Given the description of an element on the screen output the (x, y) to click on. 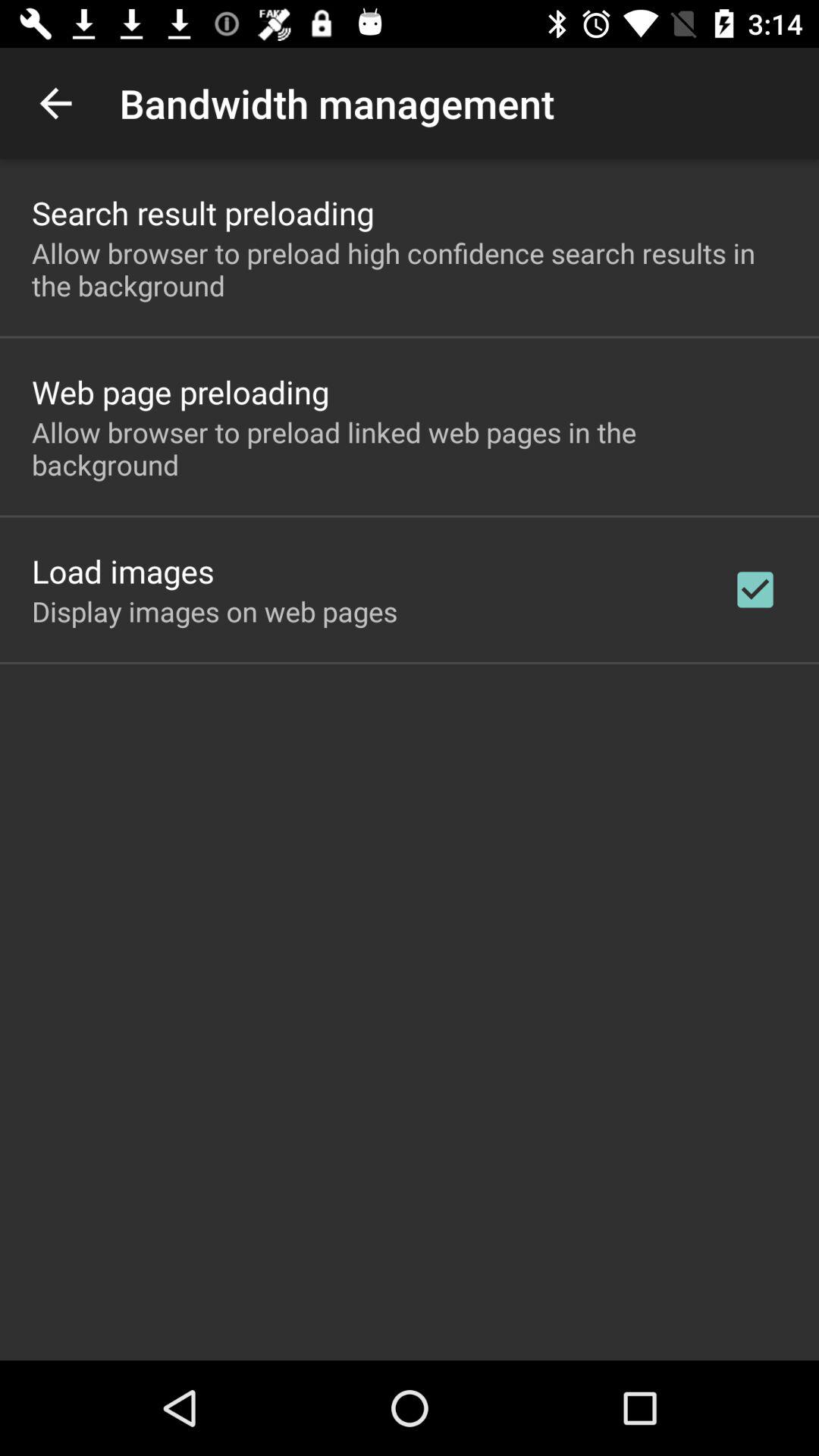
choose search result preloading app (202, 212)
